Given the description of an element on the screen output the (x, y) to click on. 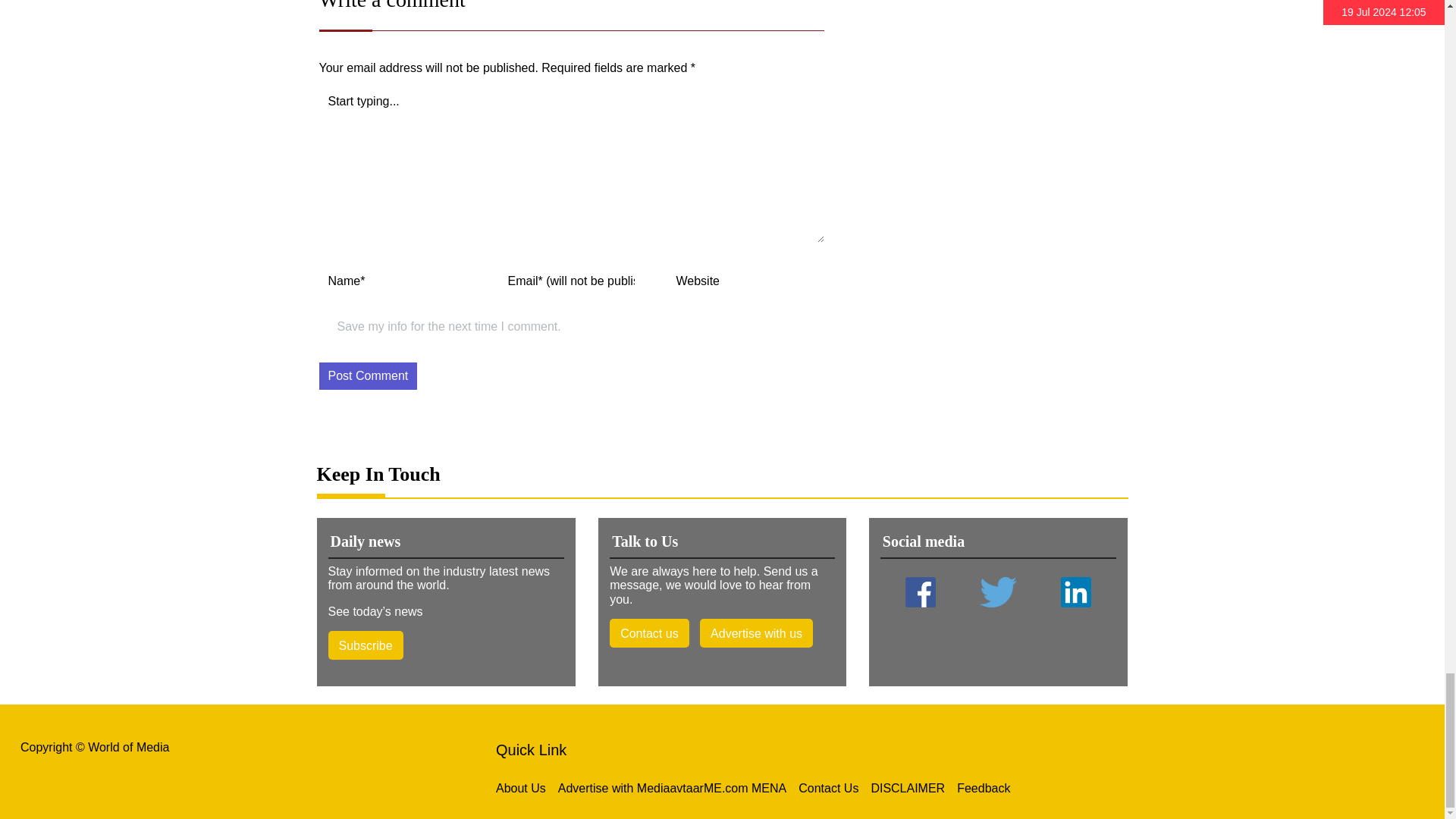
yes (324, 328)
Post Comment (367, 375)
